Given the description of an element on the screen output the (x, y) to click on. 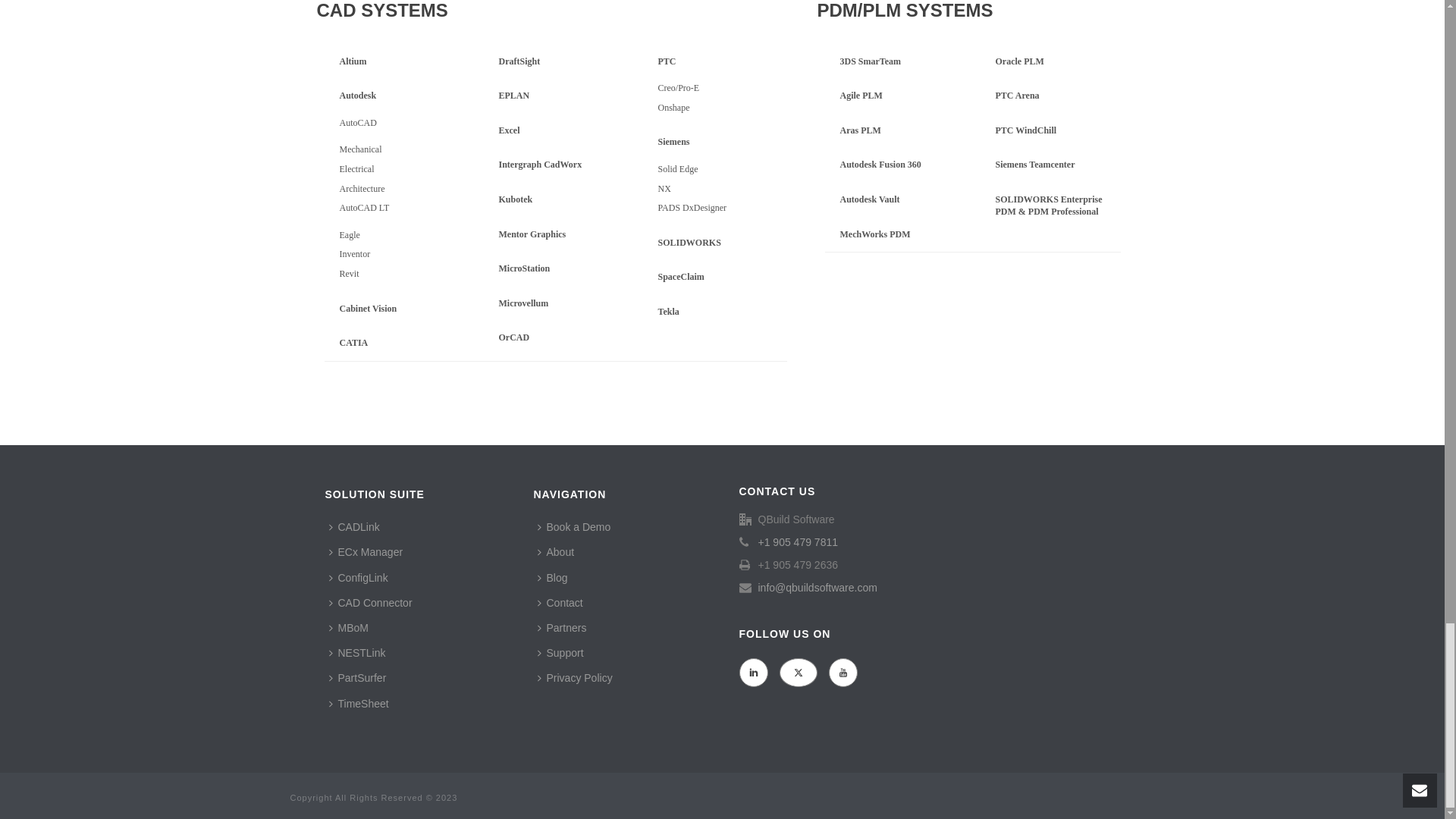
 linkedin (752, 715)
 youtube (842, 715)
 twitter (797, 715)
